Given the description of an element on the screen output the (x, y) to click on. 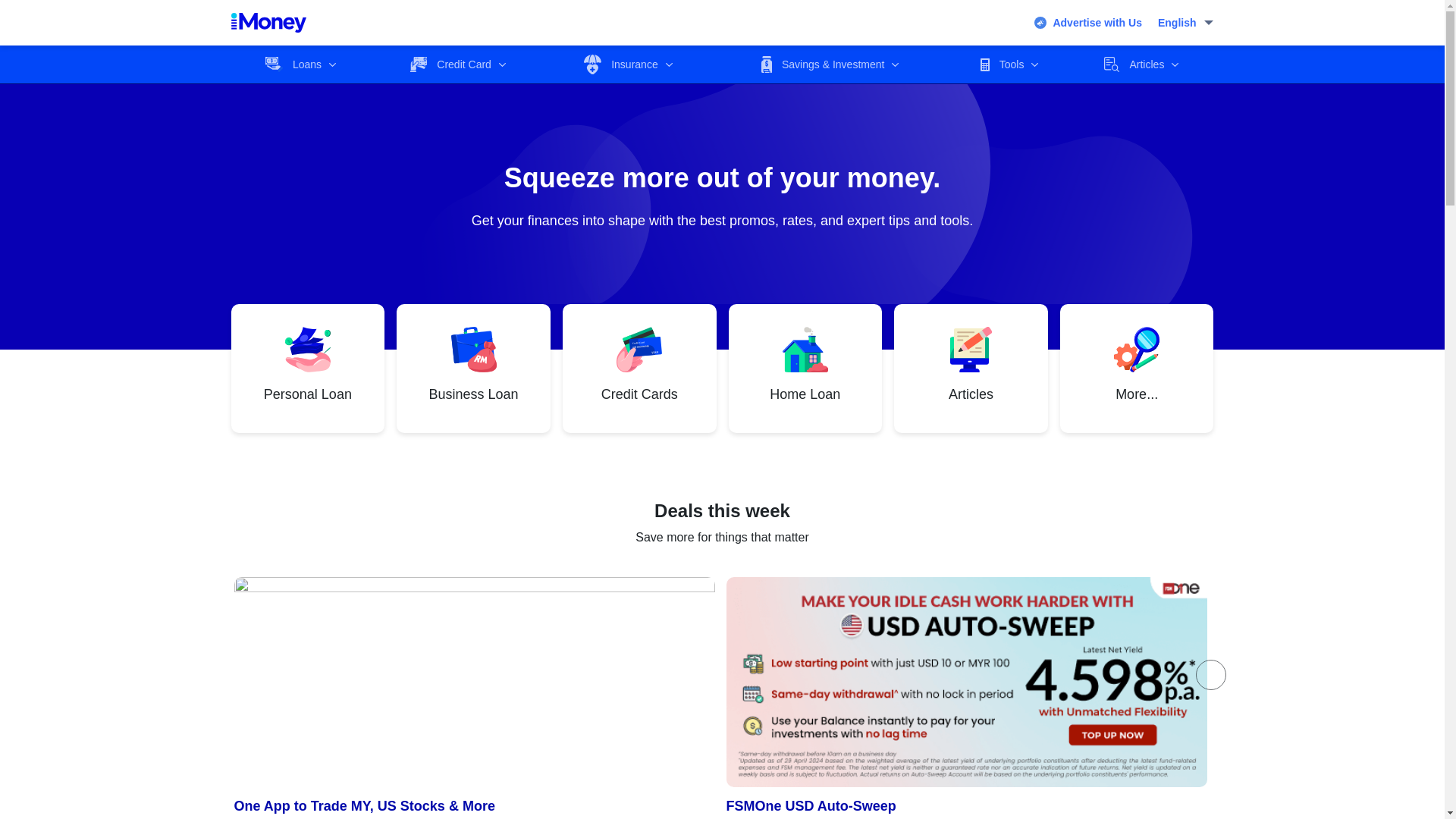
Loans (299, 64)
Personal Loan (308, 368)
Credit Card (457, 64)
More... (1136, 368)
Credit Cards (639, 368)
iMoney (267, 22)
Articles (970, 368)
Home Loan (805, 368)
Business Loan (473, 368)
English (1185, 22)
Advertise with Us (1087, 23)
FSMOne USD Auto-Sweep (966, 698)
